Given the description of an element on the screen output the (x, y) to click on. 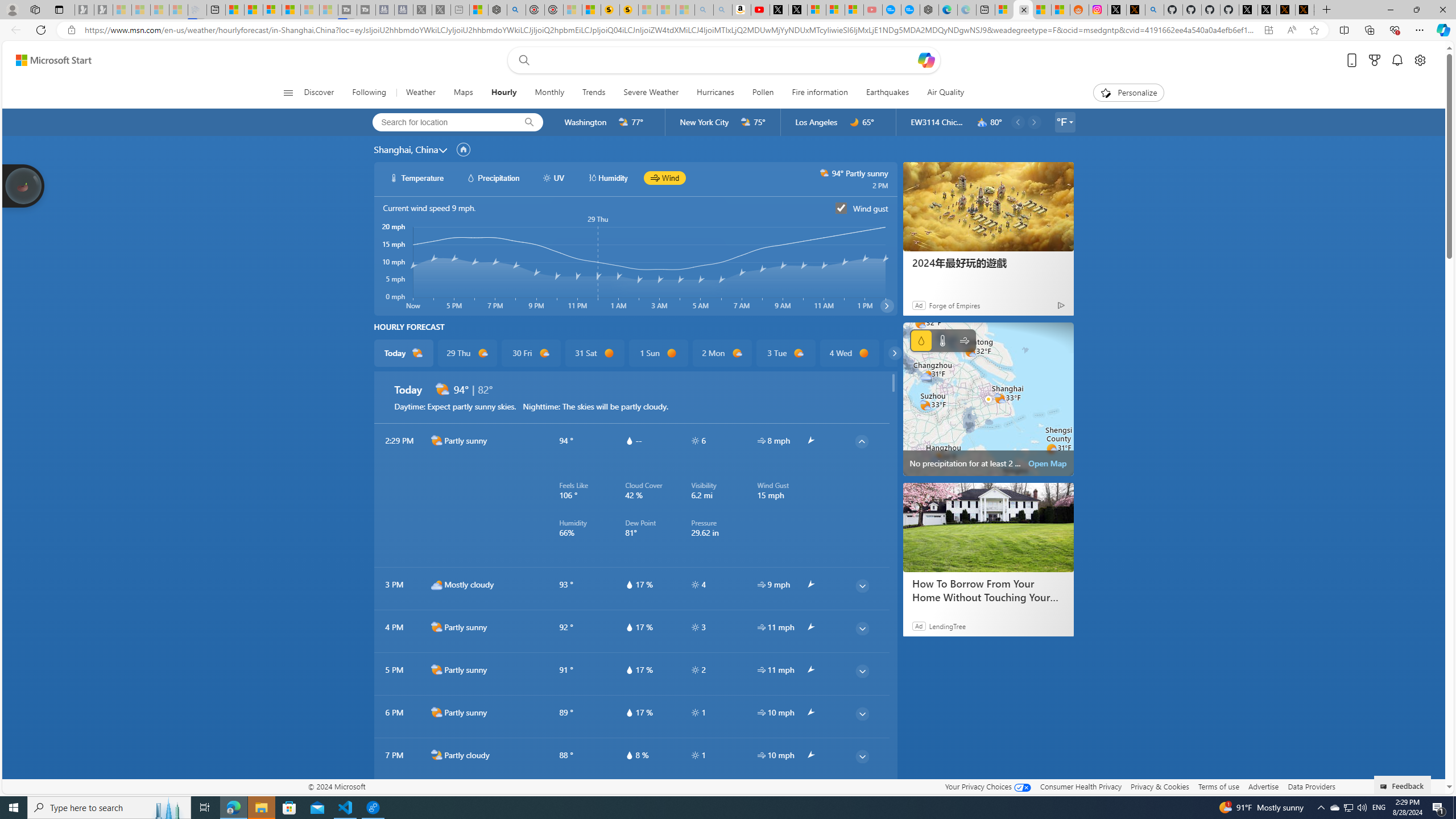
hourlyChart/humidityWhite Humidity (606, 178)
Join us in planting real trees to help our planet! (23, 185)
common/carouselChevron (894, 352)
4 Wed d0000 (849, 352)
Earthquakes (887, 92)
Terms of use (1218, 785)
Shanghai, China hourly forecast | Microsoft Weather (1022, 9)
30 Fri d1000 (530, 352)
hourlyTable/uv (694, 755)
Open settings (1420, 60)
Pollen (762, 92)
hourlyChart/windBlack Wind (664, 178)
